Given the description of an element on the screen output the (x, y) to click on. 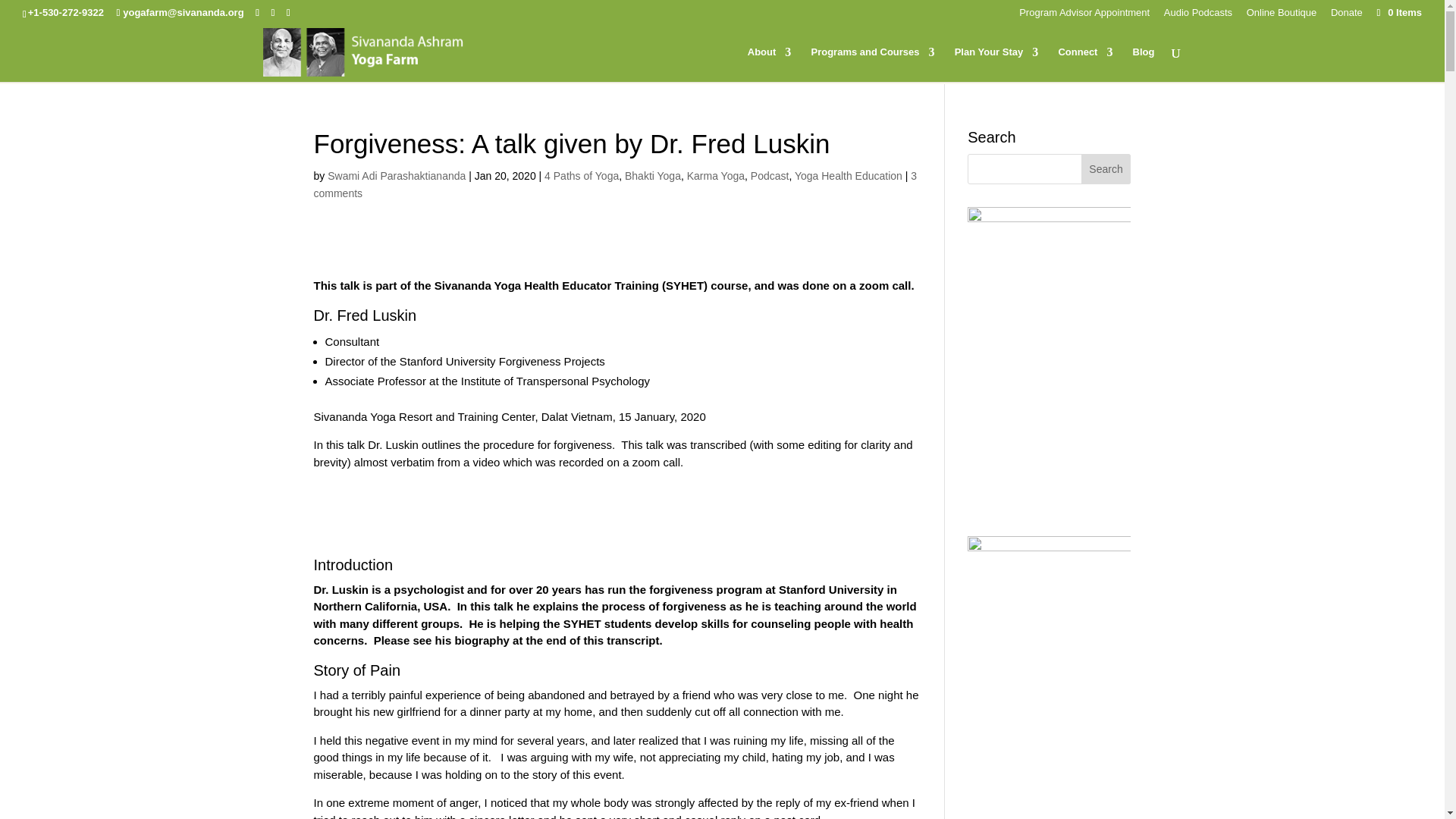
Donate (1346, 16)
Program Advisor Appointment (1084, 16)
About (770, 63)
Search (1106, 168)
Posts by Swami Adi Parashaktiananda (396, 175)
0 Items (1398, 12)
Programs and Courses (872, 63)
Audio Podcasts (1197, 16)
Plan Your Stay (997, 63)
Online Boutique (1281, 16)
Connect (1085, 63)
